Given the description of an element on the screen output the (x, y) to click on. 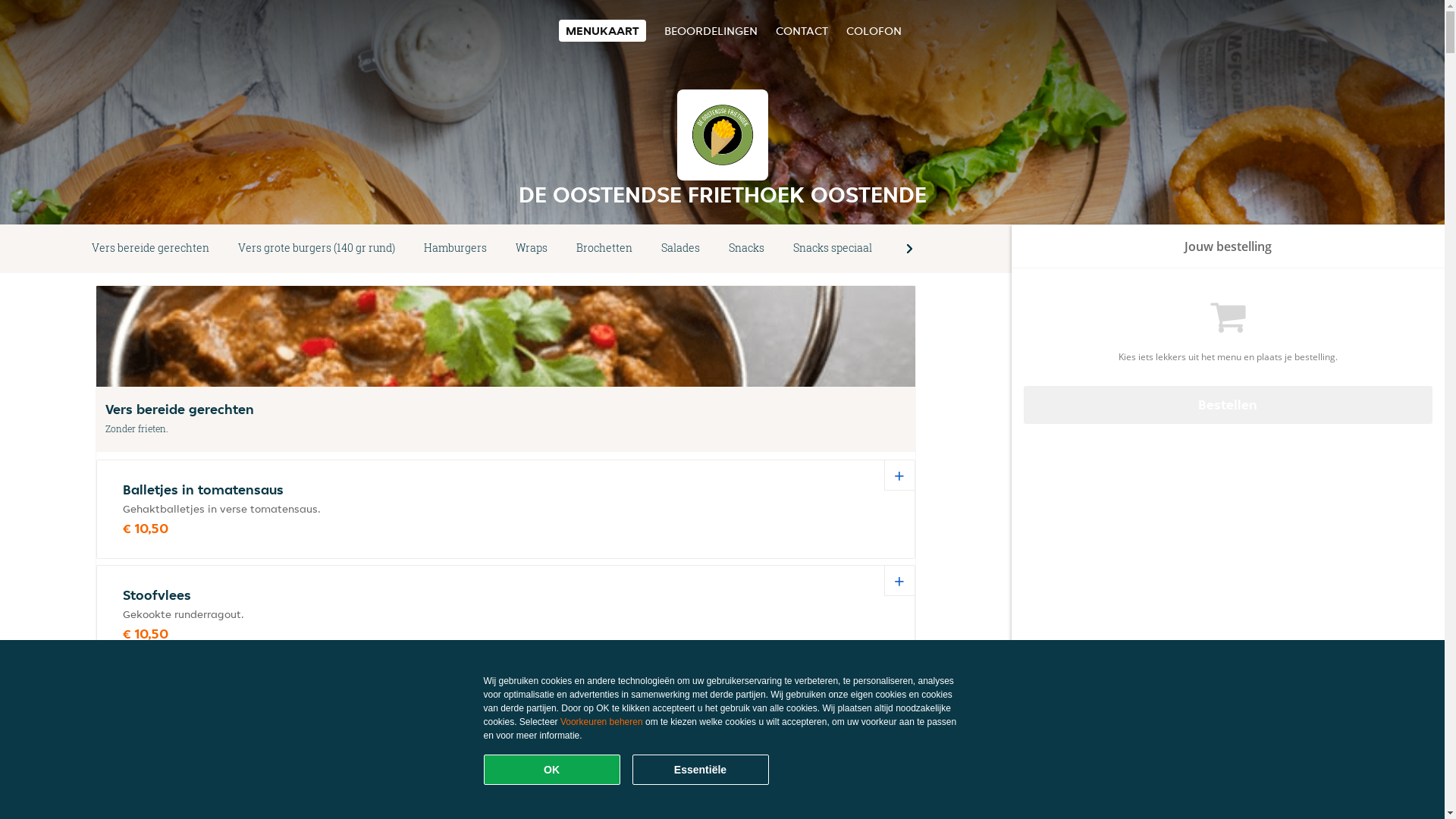
OK Element type: text (551, 769)
Wraps Element type: text (531, 248)
Vers grote burgers (140 gr rund) Element type: text (316, 248)
Salades Element type: text (680, 248)
Snacks speciaal Element type: text (832, 248)
COLOFON Element type: text (873, 30)
MENUKAART Element type: text (601, 30)
Brochetten Element type: text (603, 248)
Snacks Element type: text (746, 248)
Voorkeuren beheren Element type: text (601, 721)
BEOORDELINGEN Element type: text (710, 30)
Bestellen Element type: text (1228, 404)
Hamburgers Element type: text (455, 248)
Vers bereide gerechten Element type: text (150, 248)
CONTACT Element type: text (801, 30)
